Given the description of an element on the screen output the (x, y) to click on. 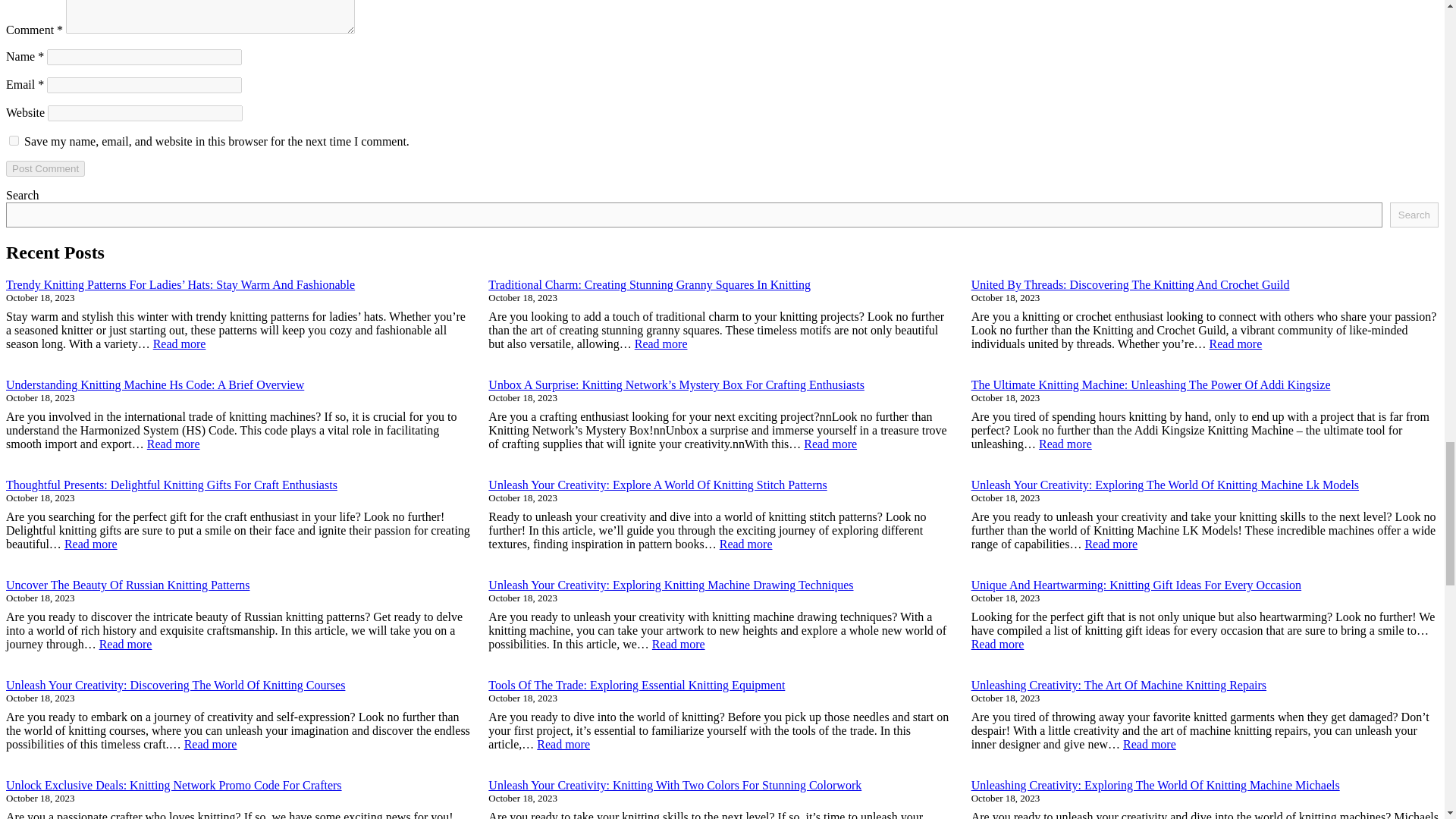
Uncover The Beauty Of Russian Knitting Patterns (126, 584)
Understanding Knitting Machine Hs Code: A Brief Overview (154, 384)
yes (13, 140)
